Given the description of an element on the screen output the (x, y) to click on. 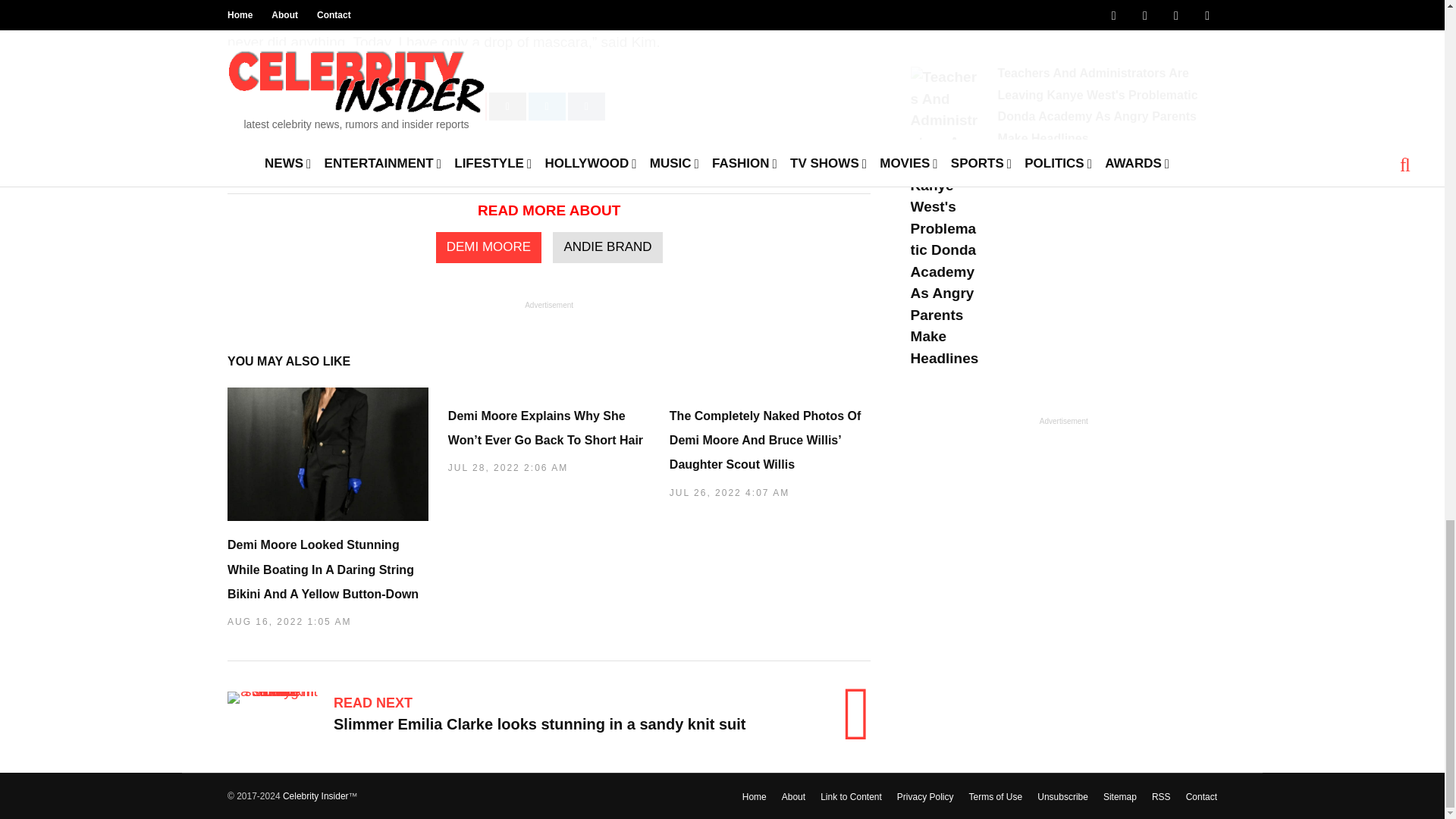
Share On Twitter (406, 106)
Share On Tumblr (586, 106)
Share On Reddit (507, 106)
Share On Pinterest (467, 106)
Share On Facebook (296, 106)
Share On Linkedin (547, 106)
